Given the description of an element on the screen output the (x, y) to click on. 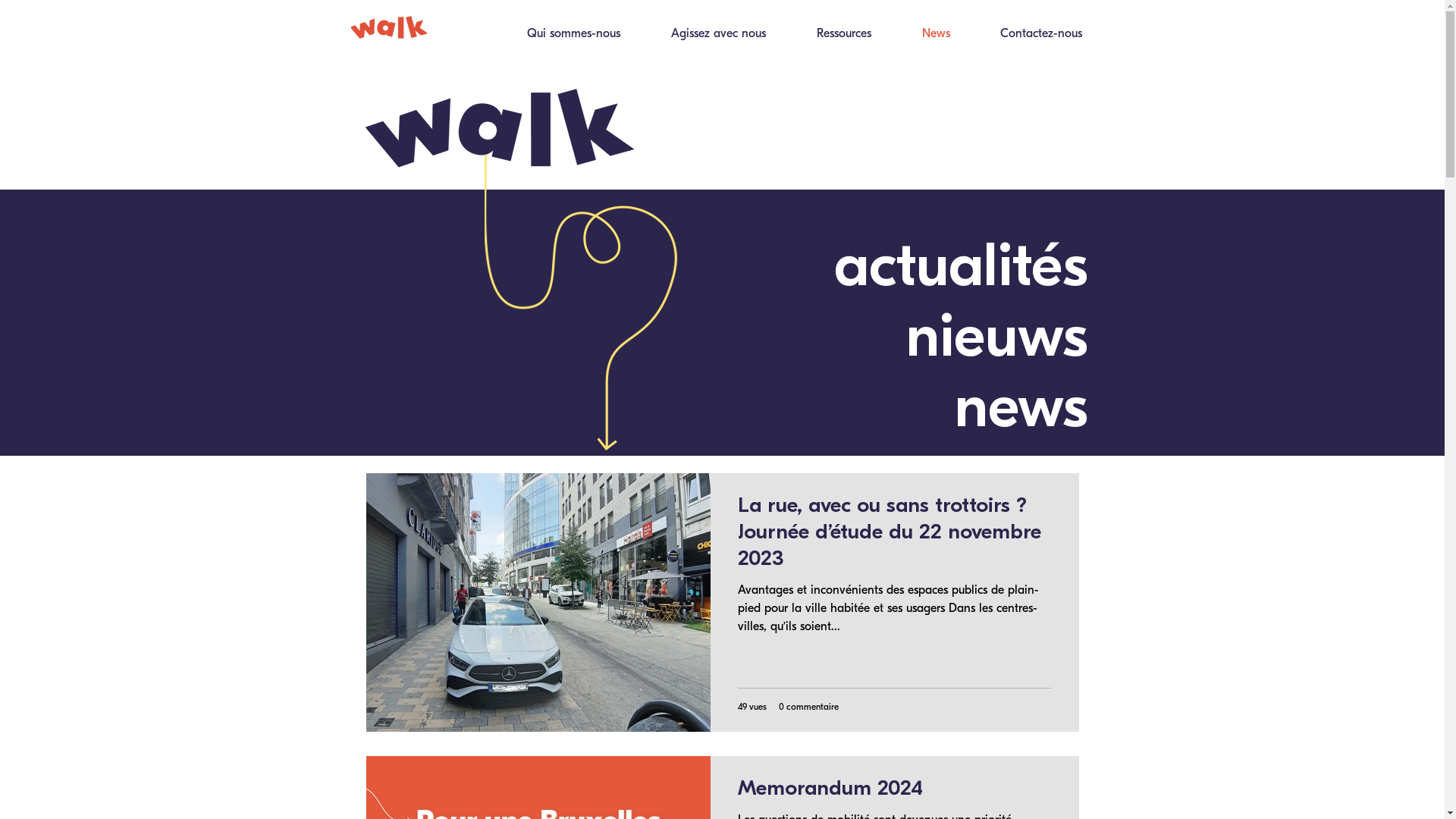
Contactez-nous Element type: text (1027, 37)
0 commentaire Element type: text (807, 705)
Qui sommes-nous Element type: text (558, 37)
Walk_orange.png Element type: hover (388, 26)
Memorandum 2024 Element type: text (894, 791)
News Element type: text (921, 37)
